Given the description of an element on the screen output the (x, y) to click on. 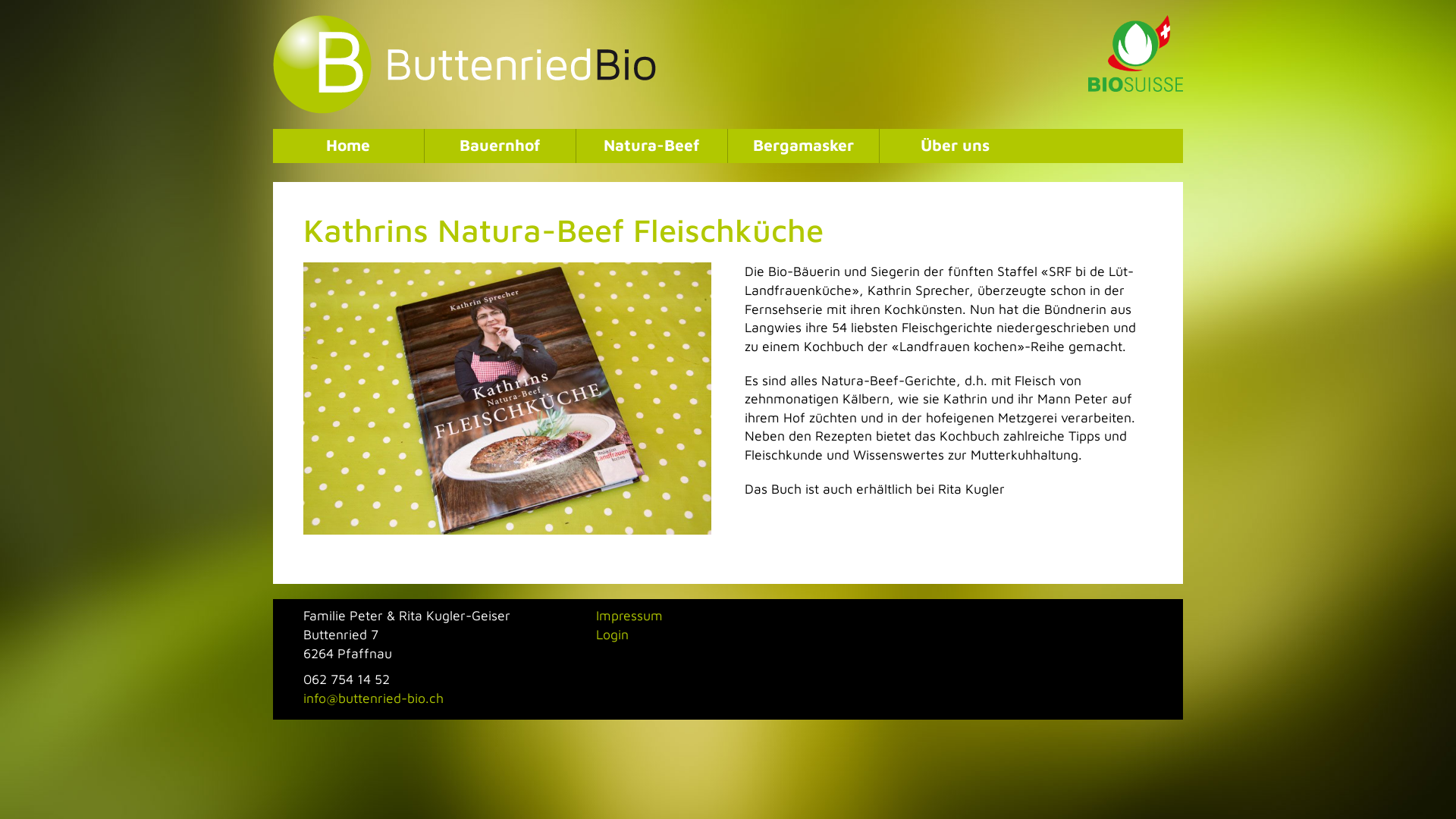
Bergamasker Element type: text (803, 145)
Login Element type: text (612, 634)
Impressum Element type: text (629, 615)
Natura-Beef Element type: text (652, 145)
info@buttenried-bio.ch Element type: text (373, 698)
Home Element type: text (348, 145)
Bauernhof Element type: text (500, 145)
